Given the description of an element on the screen output the (x, y) to click on. 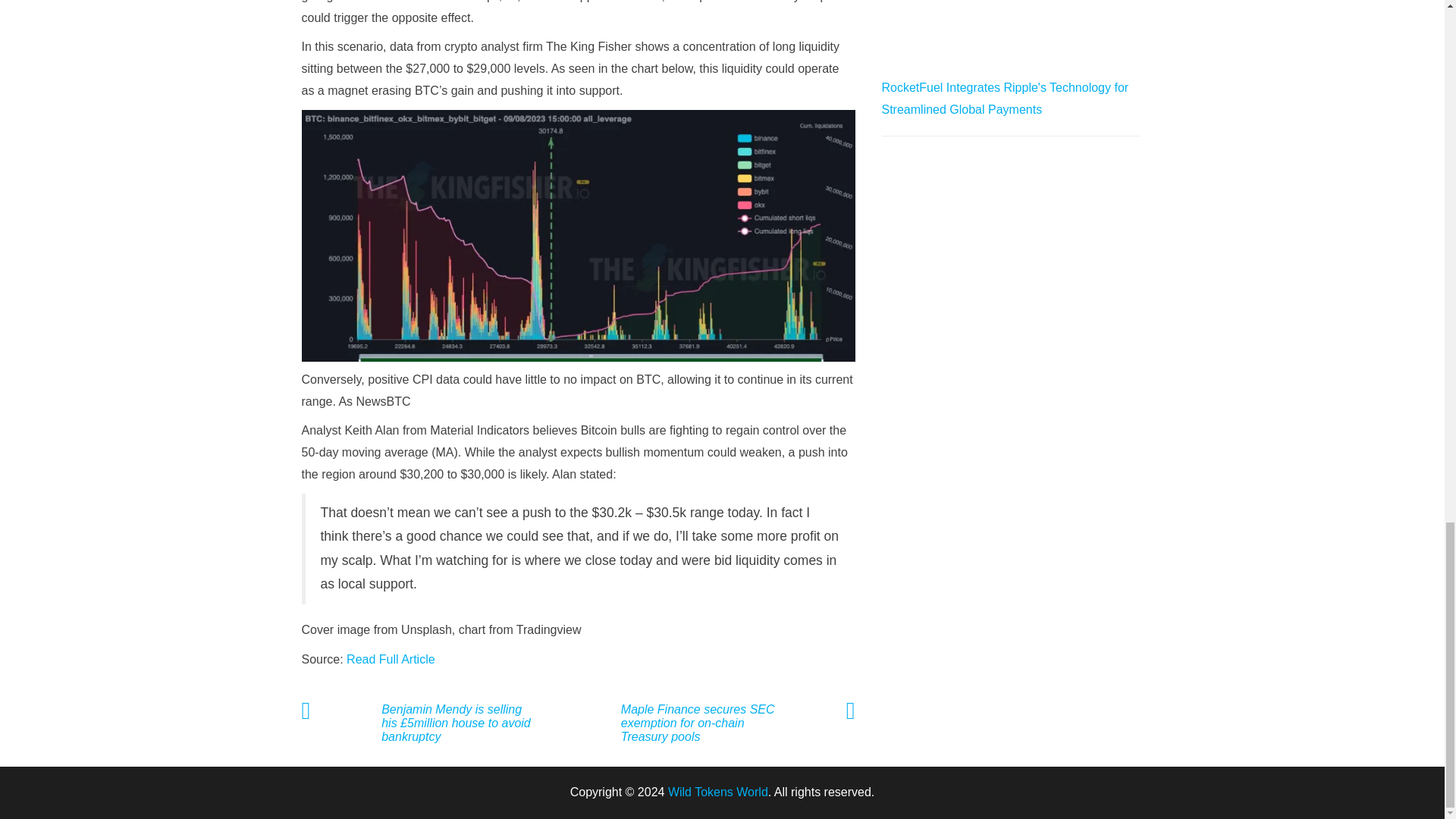
Wild Tokens World (718, 791)
Read Full Article (390, 658)
